Given the description of an element on the screen output the (x, y) to click on. 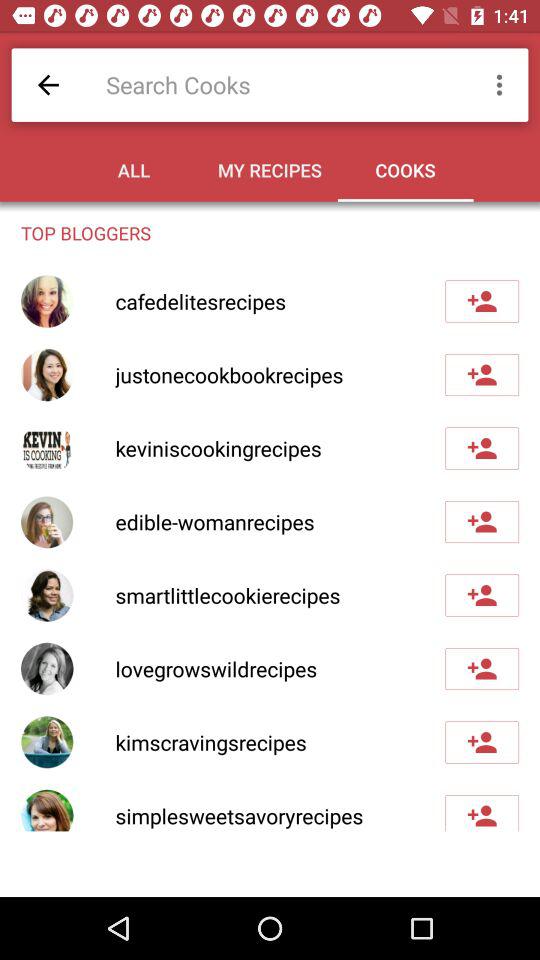
add me as a friend (482, 813)
